Given the description of an element on the screen output the (x, y) to click on. 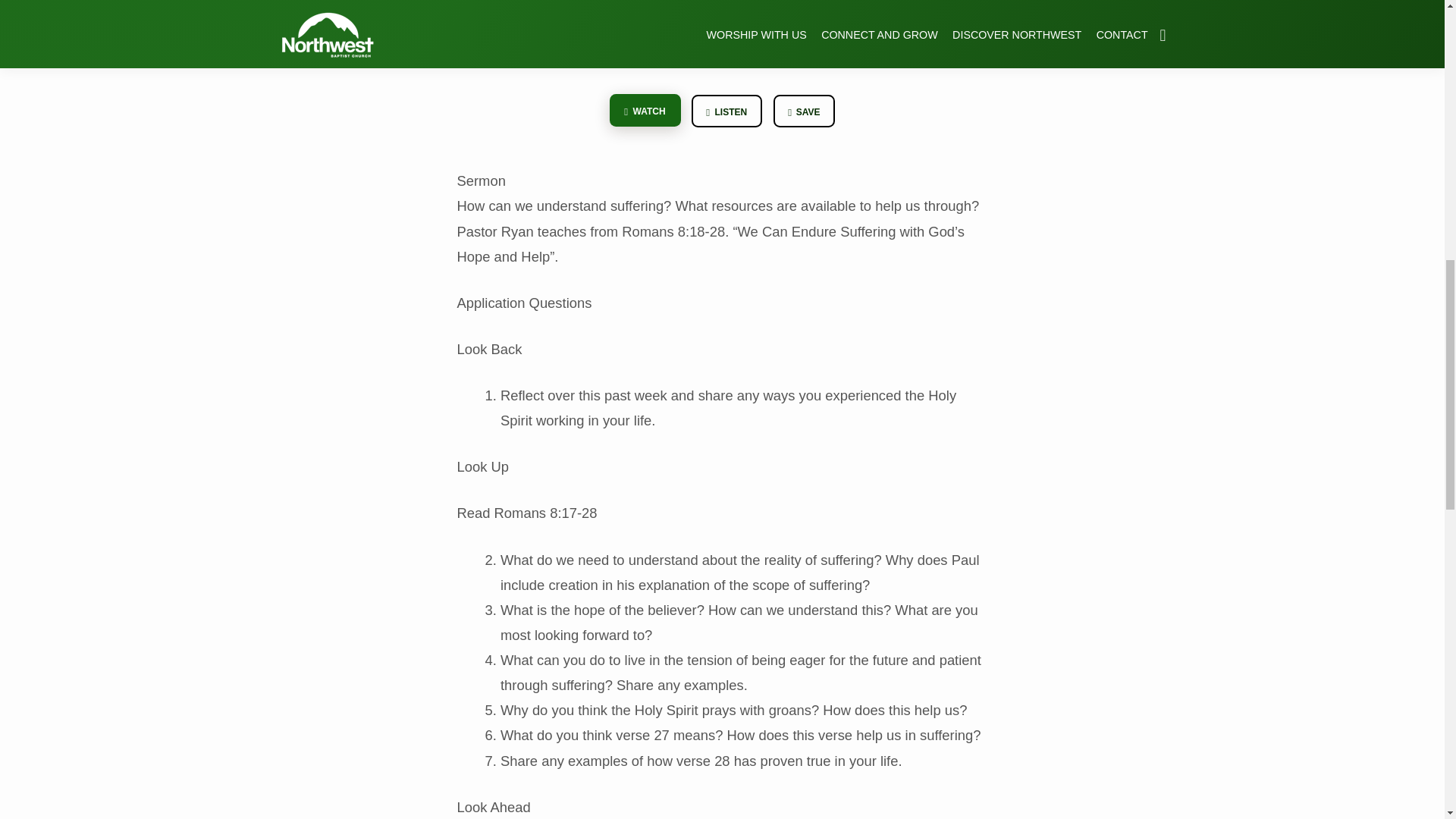
SAVE (803, 111)
WATCH (645, 110)
LISTEN (726, 111)
